Given the description of an element on the screen output the (x, y) to click on. 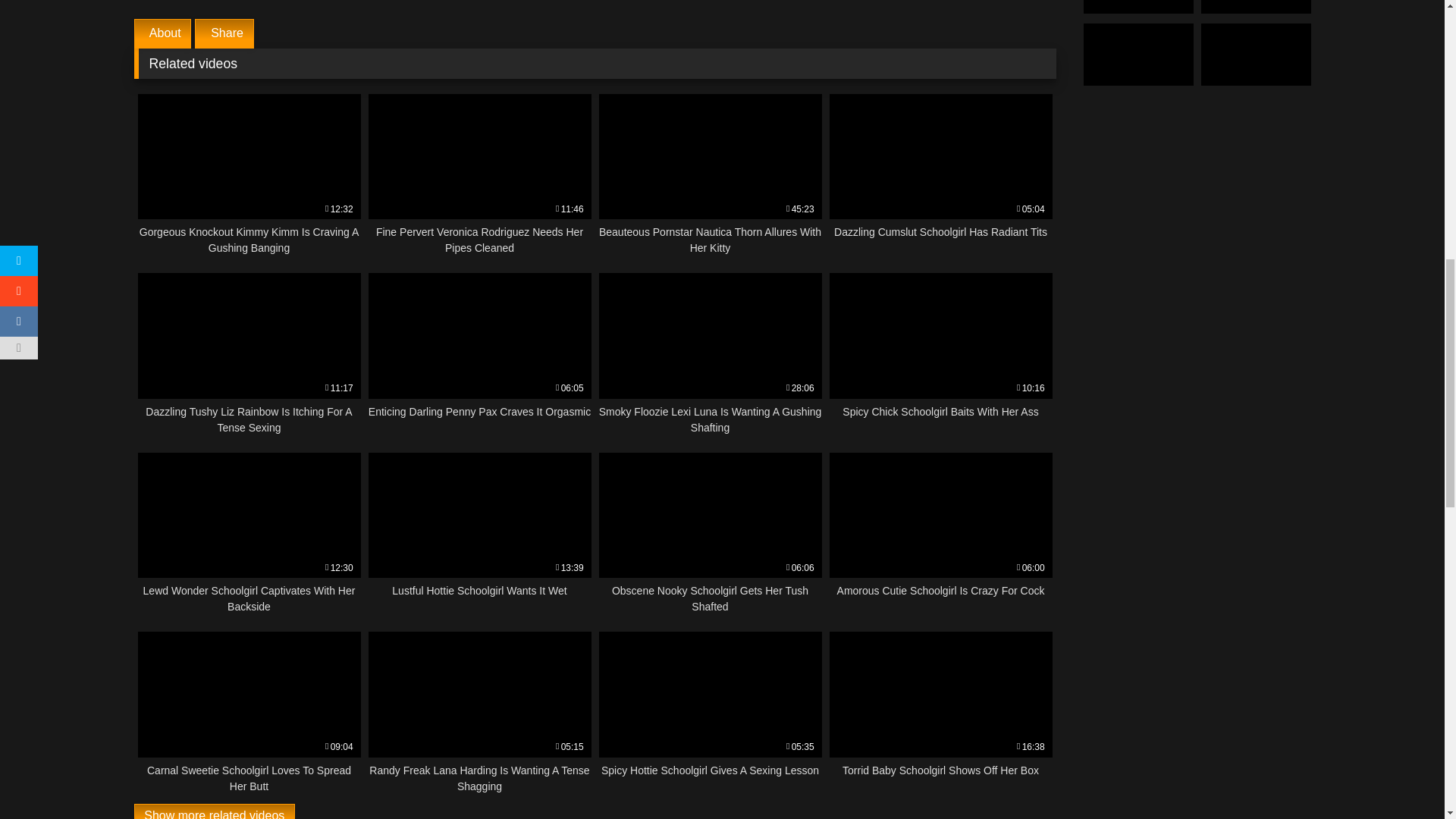
Carnal Sweetie Schoolgirl Loves To Spread Her Butt (940, 353)
Spicy Chick Schoolgirl Baits With Her Ass (249, 712)
Dazzling Tushy Liz Rainbow Is Itching For A Tense Sexing (940, 353)
Enticing Darling Penny Pax Craves It Orgasmic (940, 533)
Beauteous Pornstar Nautica Thorn Allures With Her Kitty (249, 353)
Gorgeous Knockout Kimmy Kimm Is Craving A Gushing Banging (710, 533)
About (249, 533)
